Given the description of an element on the screen output the (x, y) to click on. 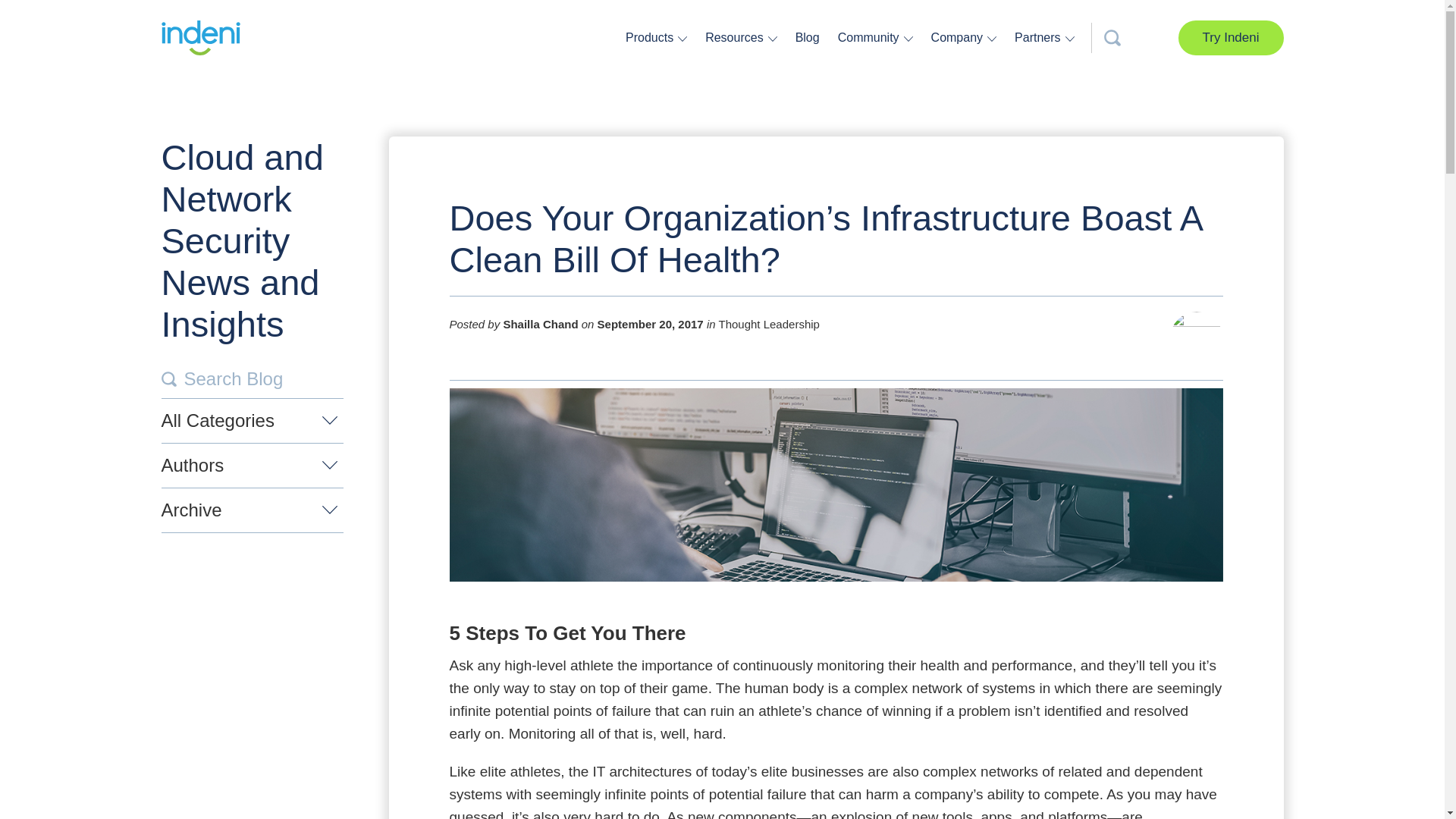
Company (958, 37)
Indeni (200, 37)
Search (168, 378)
Community (870, 37)
Try Indeni (1230, 37)
Products (651, 37)
Resources (735, 37)
Indeni (200, 37)
